Given the description of an element on the screen output the (x, y) to click on. 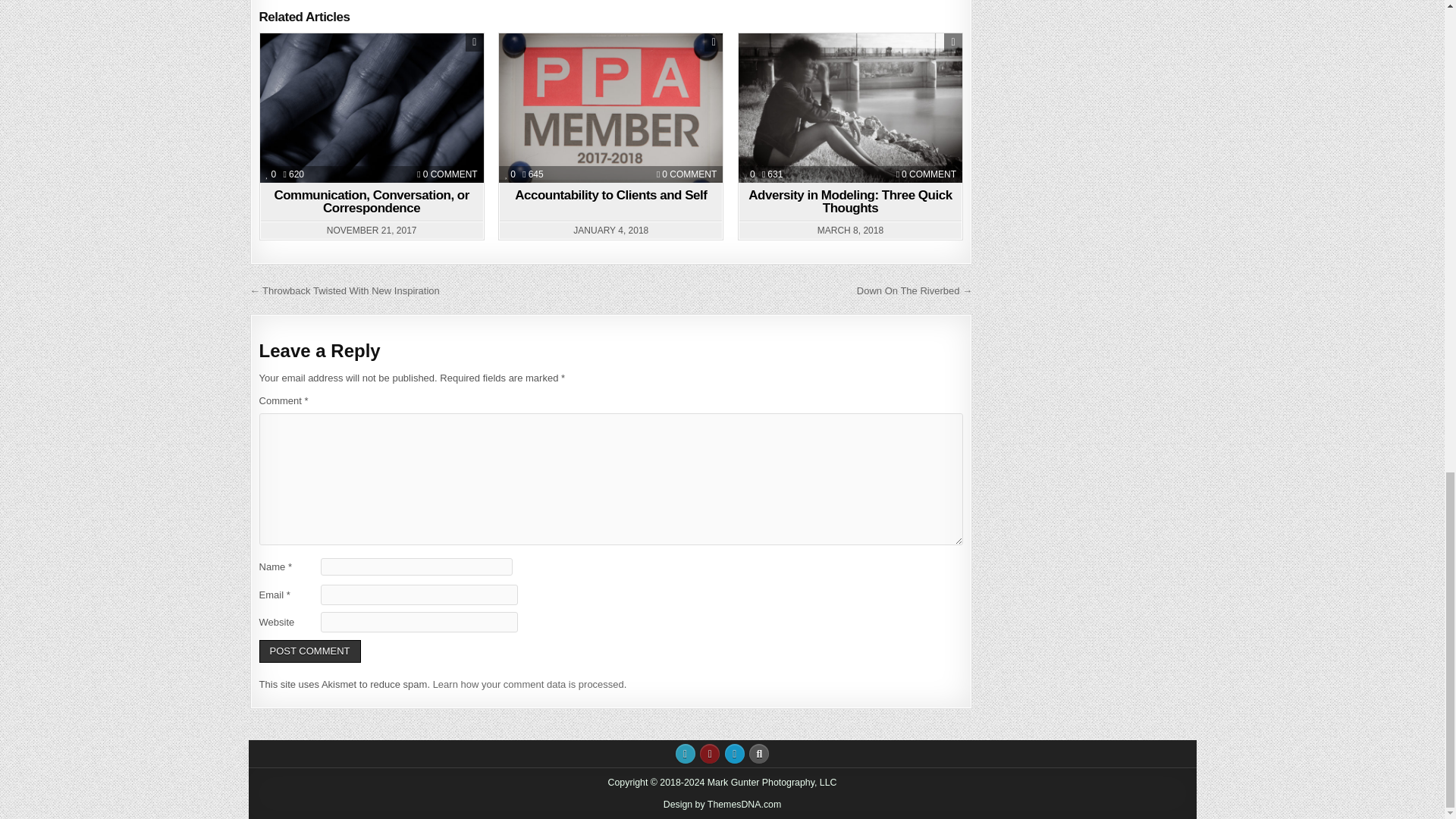
Like this (689, 174)
Communication, Conversation, or Correspondence (271, 174)
0 (370, 201)
Post Comment (271, 174)
620 Views (310, 651)
0 (293, 174)
